Given the description of an element on the screen output the (x, y) to click on. 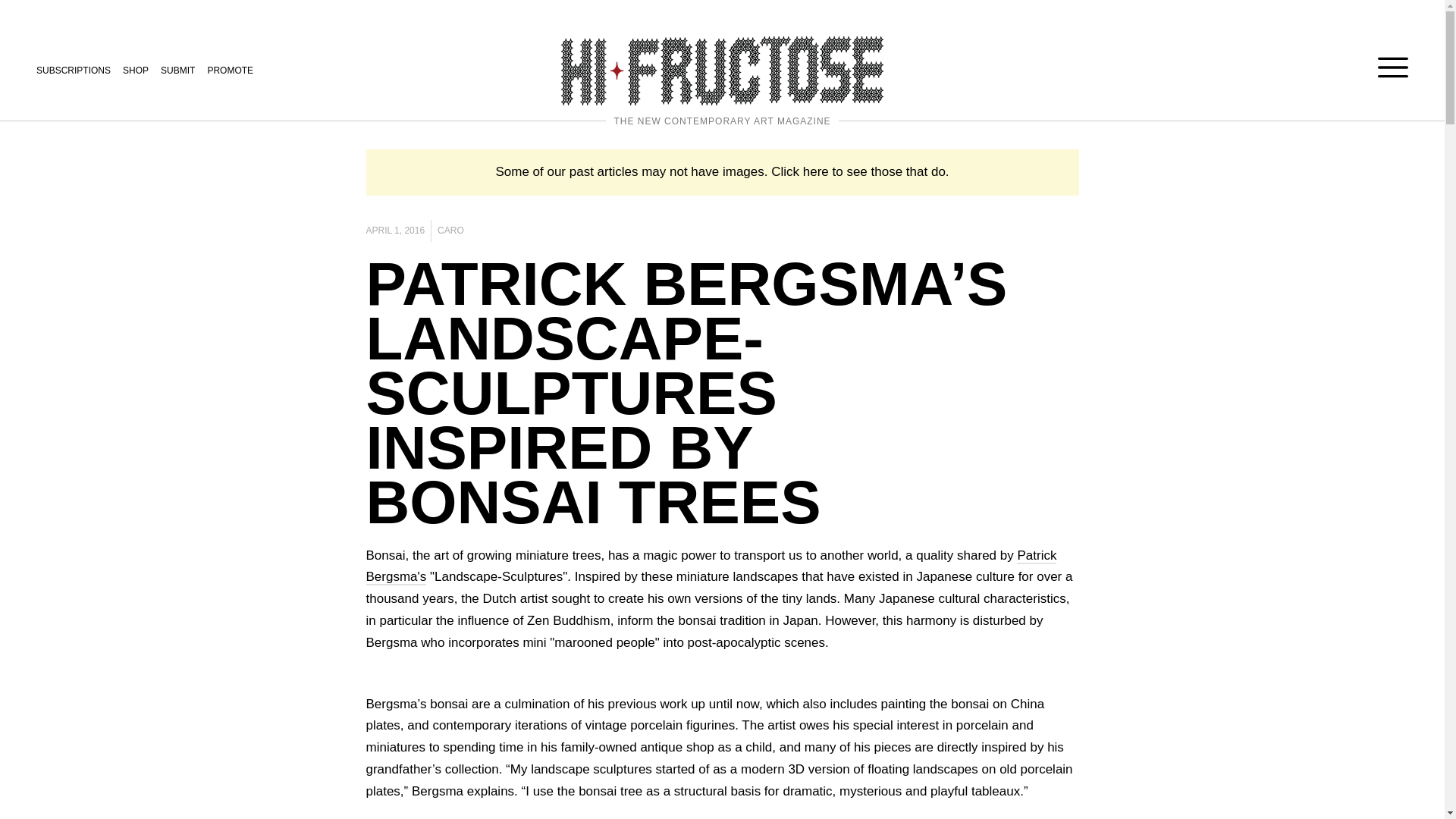
SUBSCRIPTIONS (73, 70)
PROMOTE (229, 70)
SUBMIT (177, 70)
CARO (451, 230)
Patrick Bergsma's (711, 566)
SHOP (135, 70)
